Given the description of an element on the screen output the (x, y) to click on. 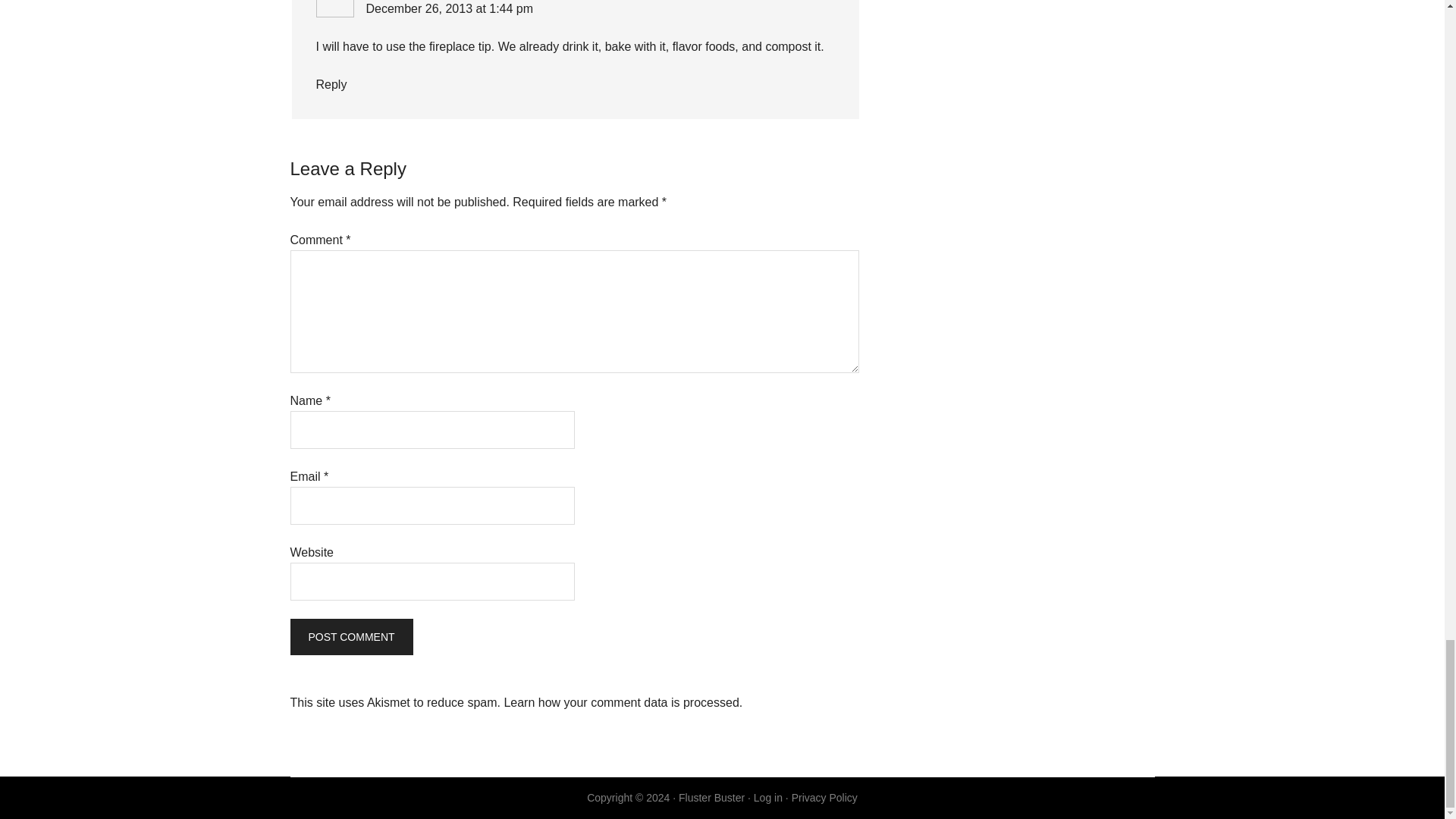
Learn how your comment data is processed (620, 702)
Post Comment (350, 637)
Post Comment (350, 637)
Reply (330, 83)
December 26, 2013 at 1:44 pm (448, 8)
